Given the description of an element on the screen output the (x, y) to click on. 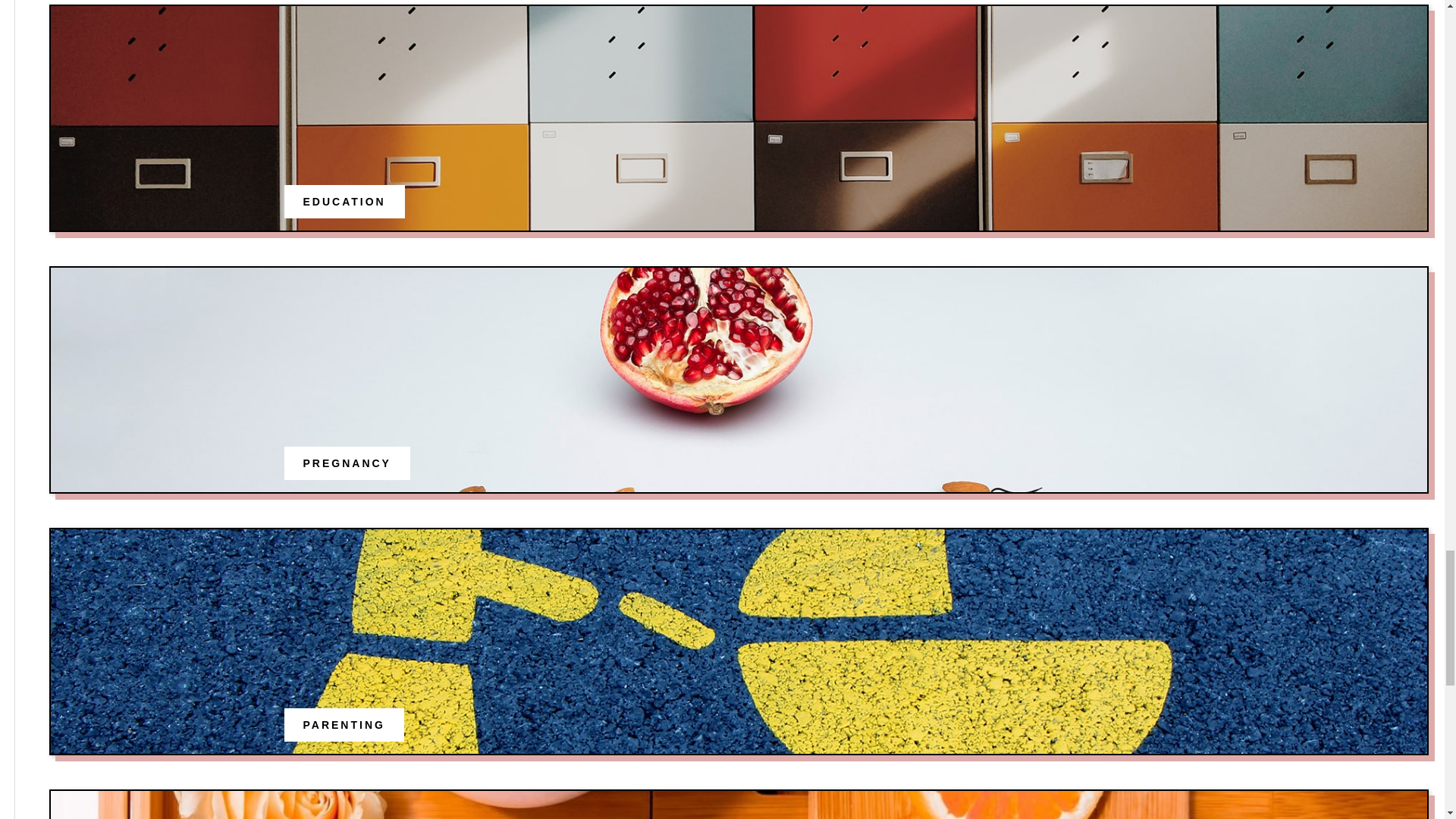
PARENTING (344, 724)
PREGNANCY (346, 462)
EDUCATION (344, 201)
